Given the description of an element on the screen output the (x, y) to click on. 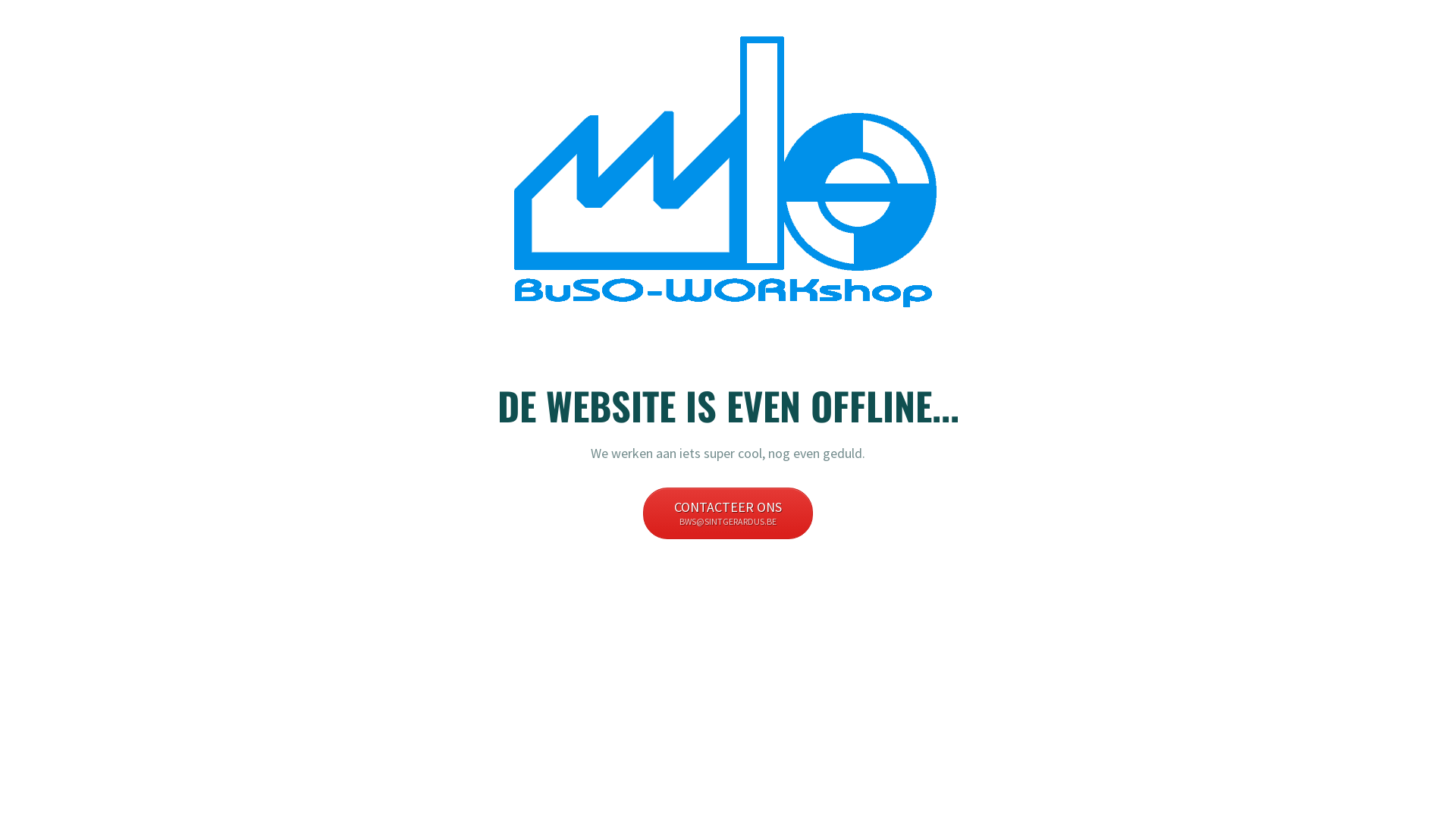
CONTACTEER ONS
BWS@SINTGERARDUS.BE Element type: text (727, 513)
